Given the description of an element on the screen output the (x, y) to click on. 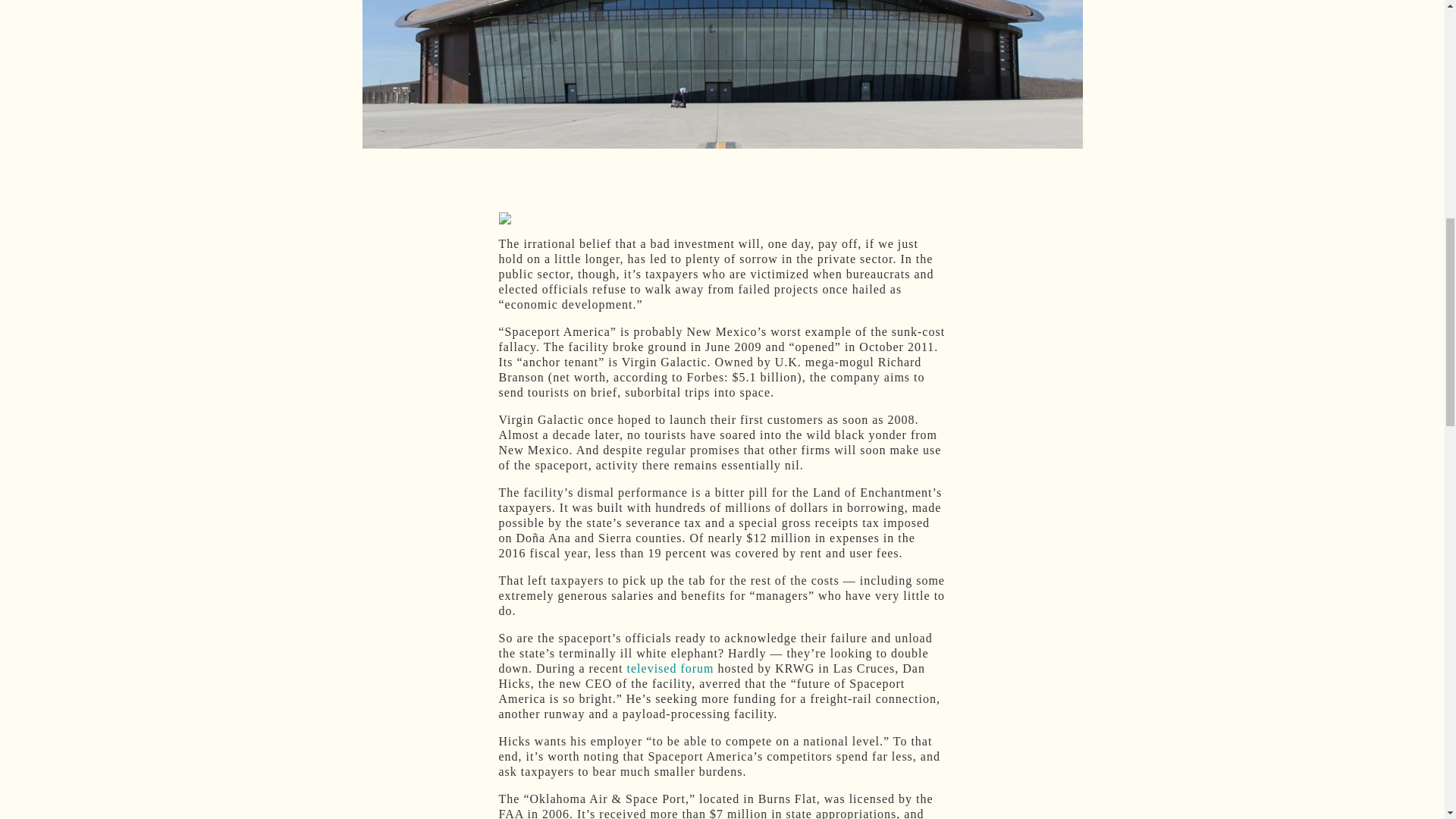
televised forum (670, 667)
